Given the description of an element on the screen output the (x, y) to click on. 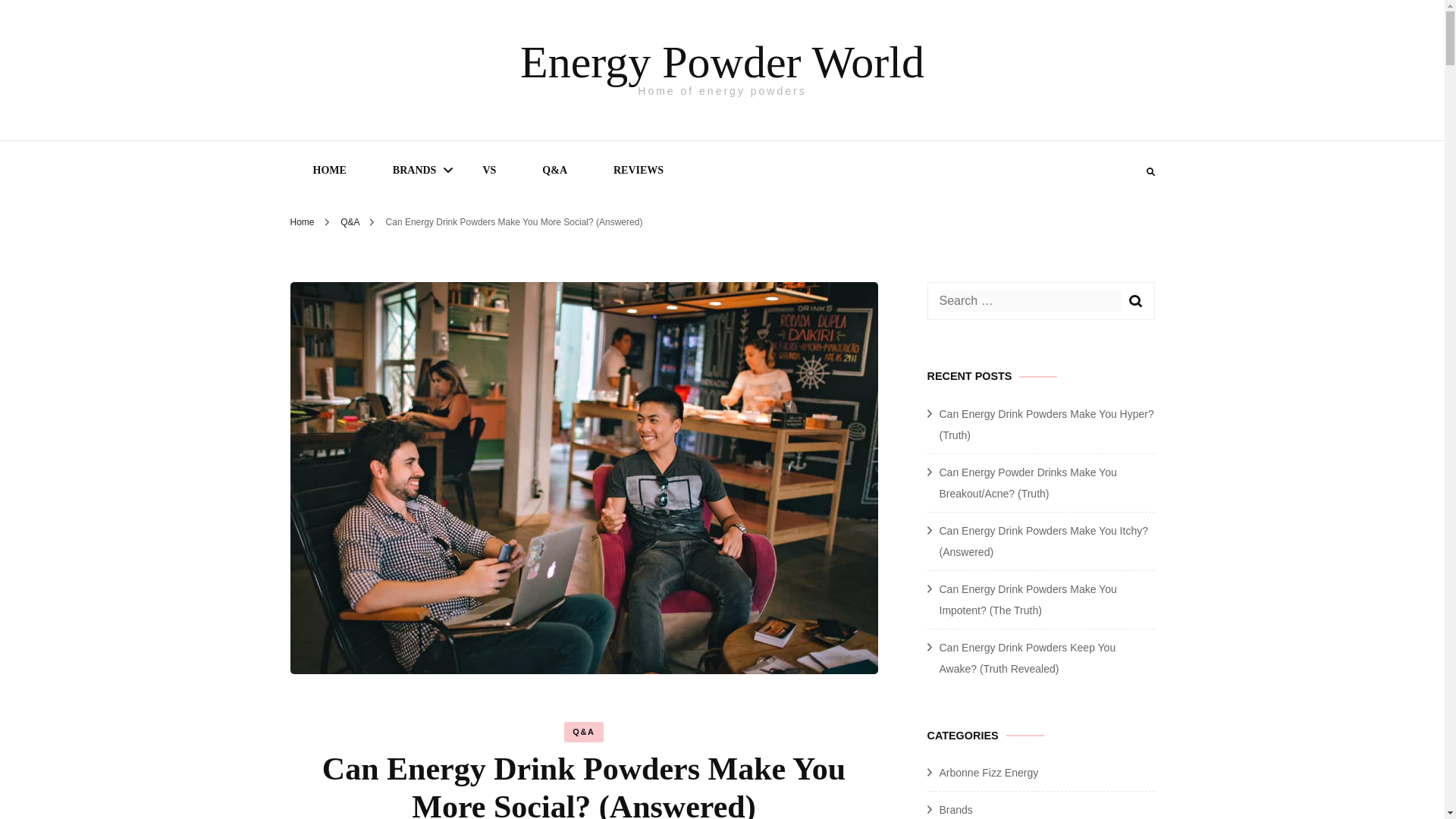
Search (1134, 300)
Search (1134, 300)
Celsius On-The-Go (453, 236)
VS (489, 169)
Home (301, 222)
REVIEWS (638, 169)
BRANDS (414, 169)
Energy Powder World (721, 61)
HOME (328, 169)
